Given the description of an element on the screen output the (x, y) to click on. 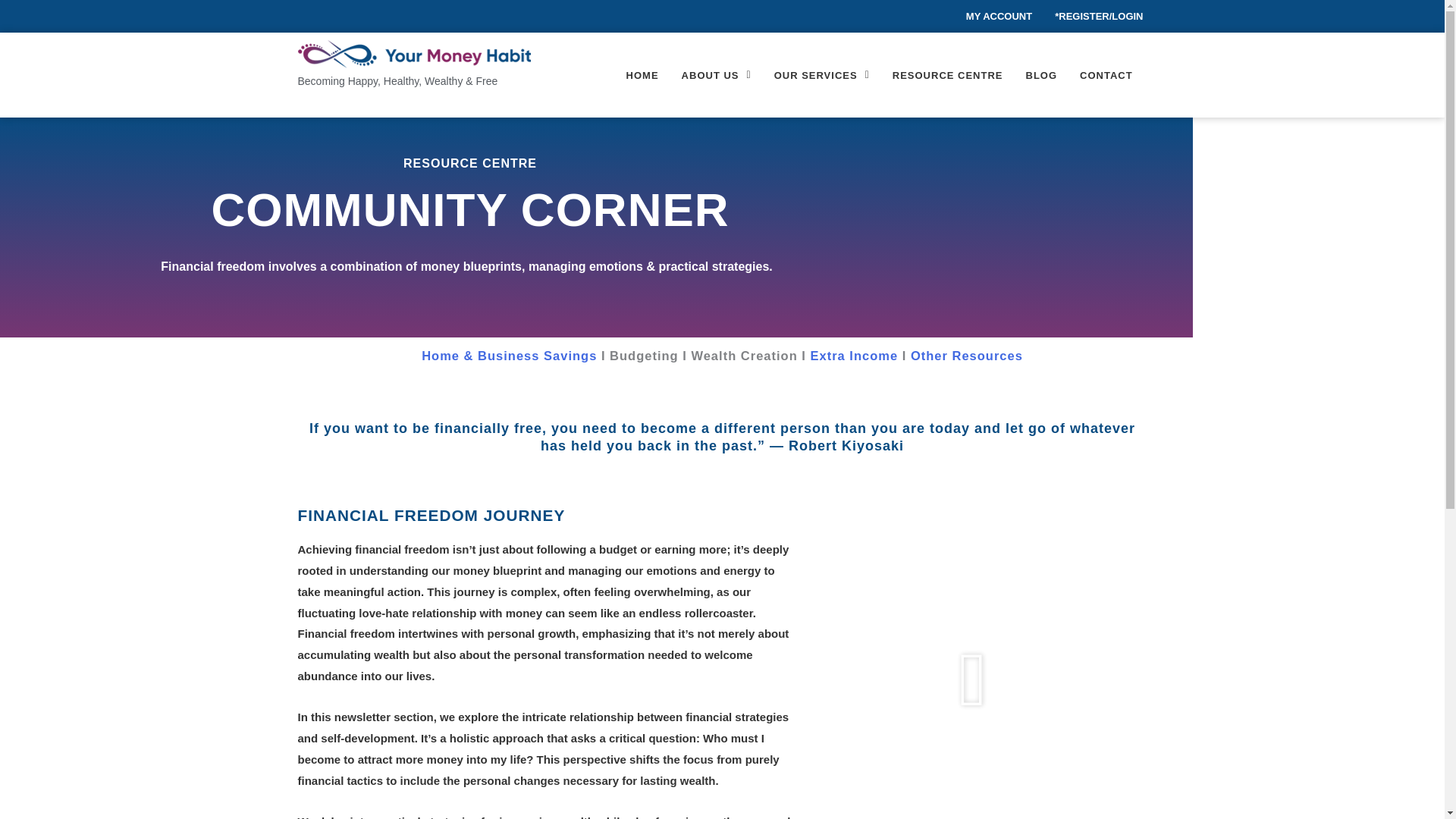
OUR SERVICES (821, 74)
Extra Income (852, 355)
HOME (641, 74)
CONTACT (1106, 74)
BLOG (1041, 74)
MY ACCOUNT (999, 16)
RESOURCE CENTRE (947, 74)
ABOUT US (715, 74)
Other Resources (967, 355)
